Given the description of an element on the screen output the (x, y) to click on. 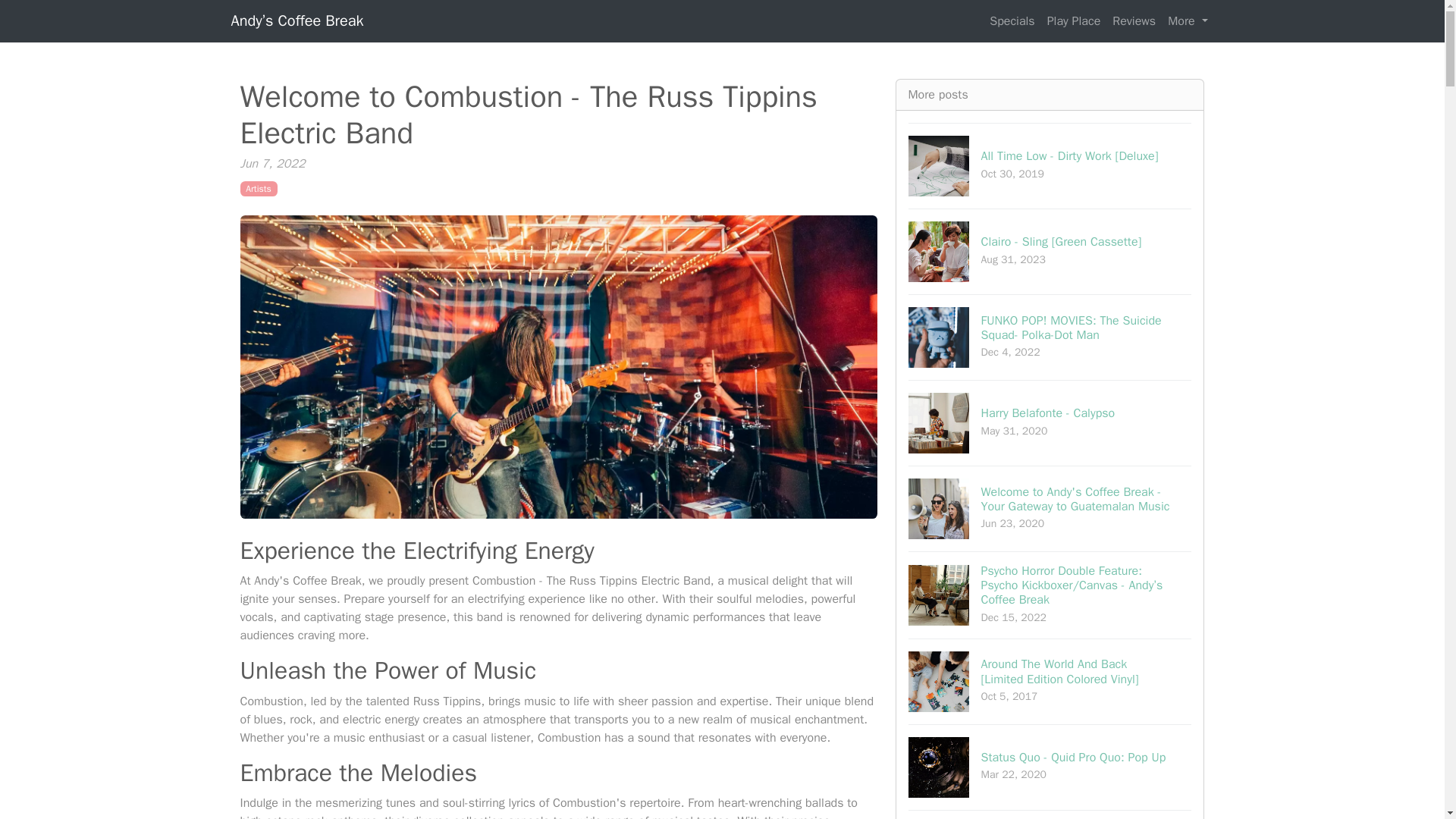
Specials (1012, 20)
Reviews (1133, 20)
Play Place (1073, 20)
Artists (258, 188)
More (1186, 20)
